Given the description of an element on the screen output the (x, y) to click on. 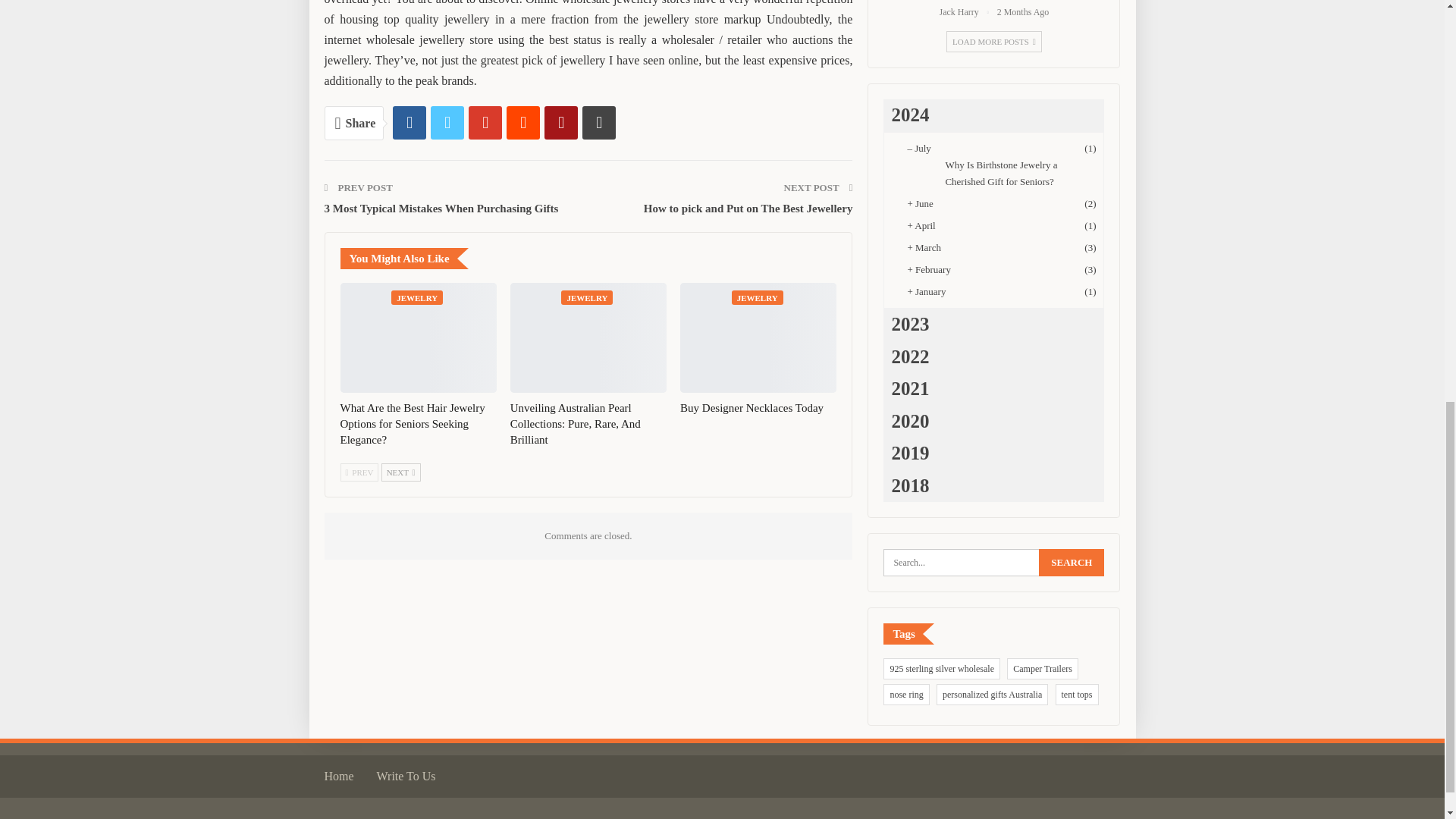
Buy Designer Necklaces Today (751, 408)
JEWELRY (416, 297)
Buy Designer Necklaces Today (757, 337)
How to pick and Put on The Best Jewellery (748, 208)
Search (1071, 562)
You Might Also Like (403, 257)
Next (400, 472)
3 Most Typical Mistakes When Purchasing Gifts (441, 208)
Previous (358, 472)
JEWELRY (586, 297)
